Given the description of an element on the screen output the (x, y) to click on. 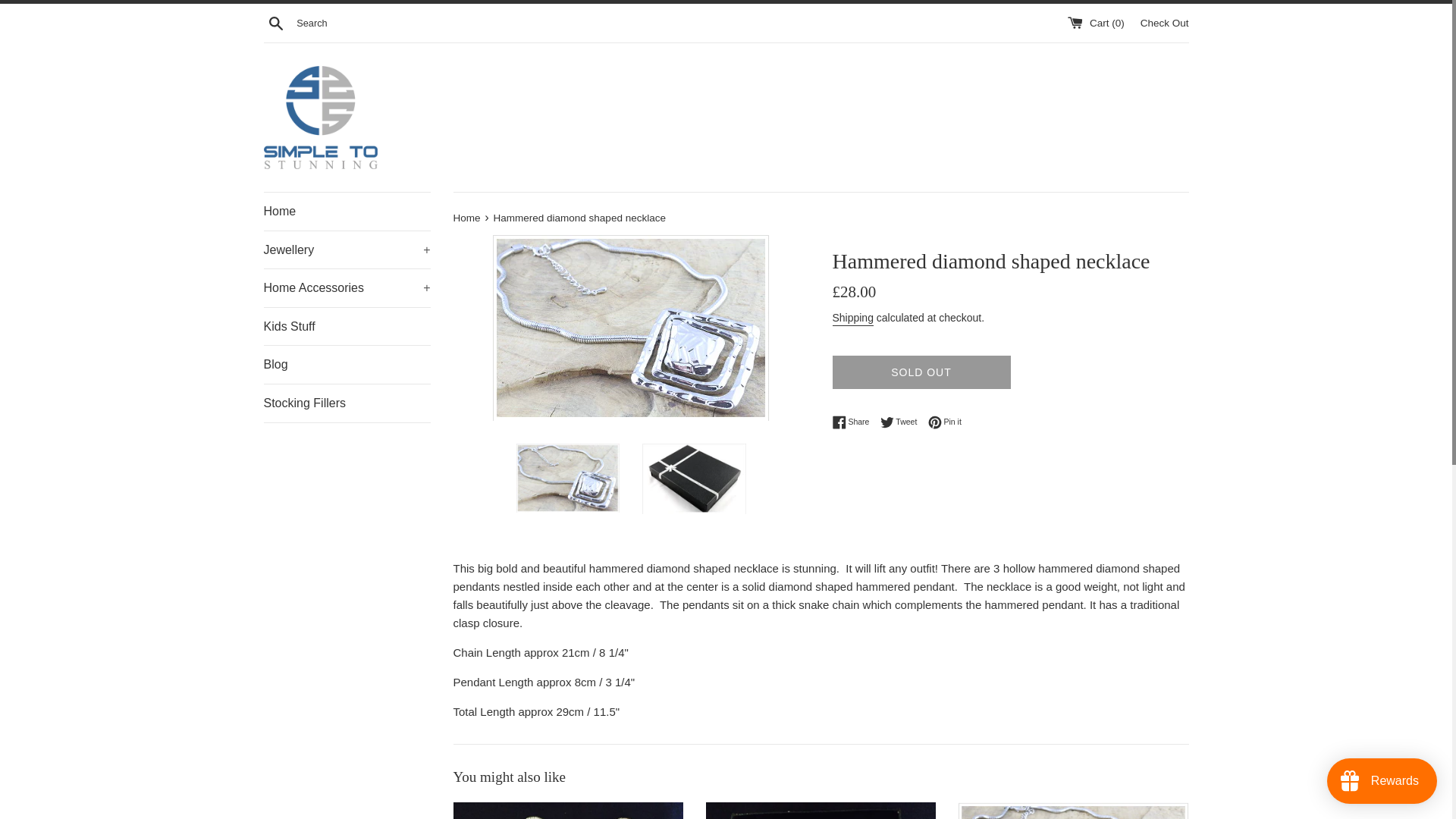
SOLD OUT (921, 372)
Blog (944, 422)
Pin on Pinterest (346, 364)
Home (944, 422)
Search (346, 211)
Home (854, 422)
Tweet on Twitter (275, 21)
Back to the frontpage (467, 217)
Check Out (902, 422)
Kids Stuff (467, 217)
Share on Facebook (1164, 21)
Chunky Flower Pendant Necklace (902, 422)
